Given the description of an element on the screen output the (x, y) to click on. 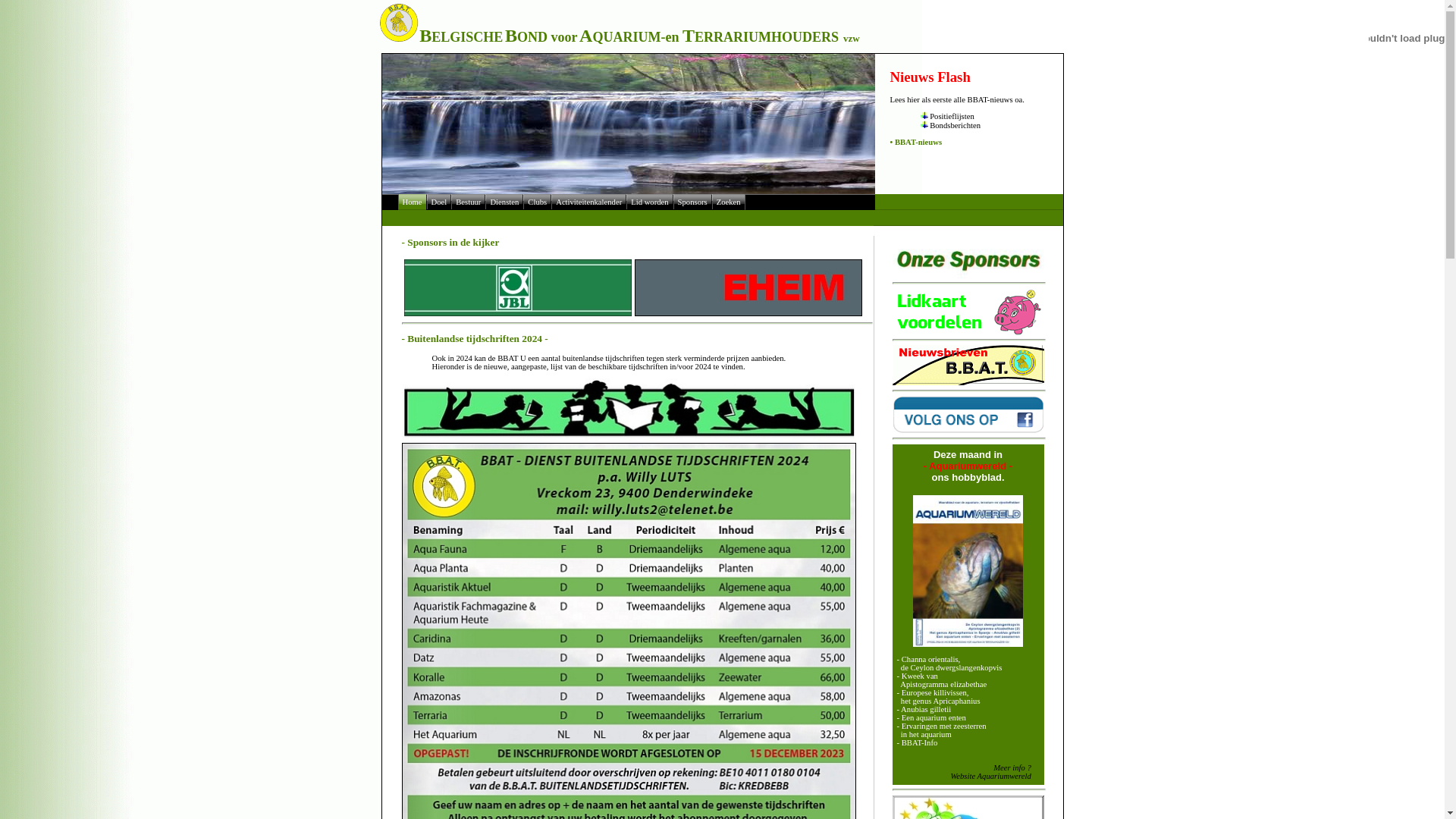
Volg ons op FaceBook Element type: hover (967, 414)
BBAT-Nieuwsbrieven Element type: hover (967, 365)
BBAT-LIDKAART VOORDEEL Element type: hover (967, 311)
november 2023 Element type: hover (967, 570)
ONZE SPONSORS Element type: hover (967, 261)
